Given the description of an element on the screen output the (x, y) to click on. 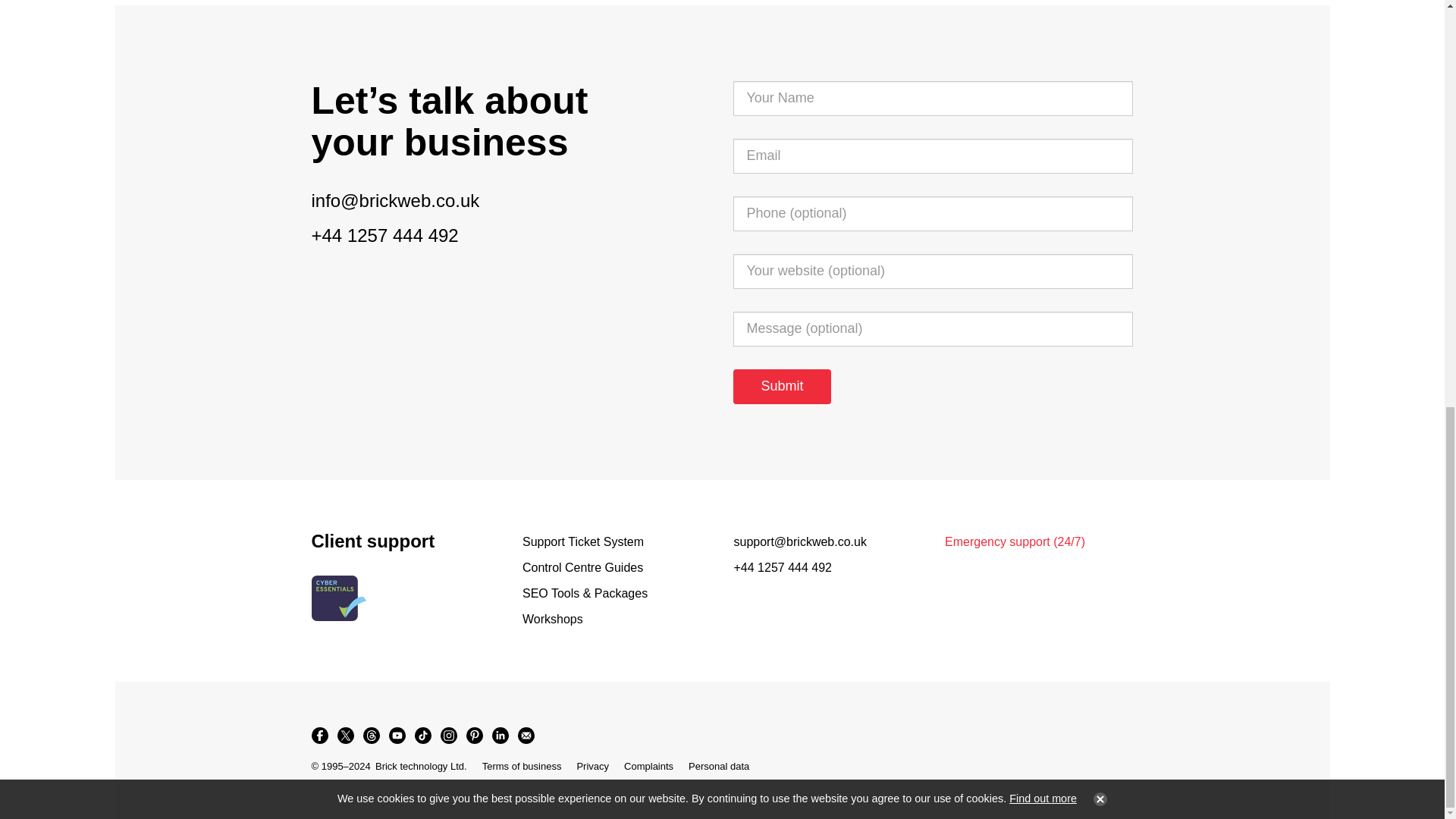
Facebook (318, 735)
Threads (371, 735)
LinkedIn (499, 735)
Newsletter (525, 735)
YouTube (396, 735)
Pinterest (473, 735)
TikTok (422, 735)
Instagram (448, 735)
